Given the description of an element on the screen output the (x, y) to click on. 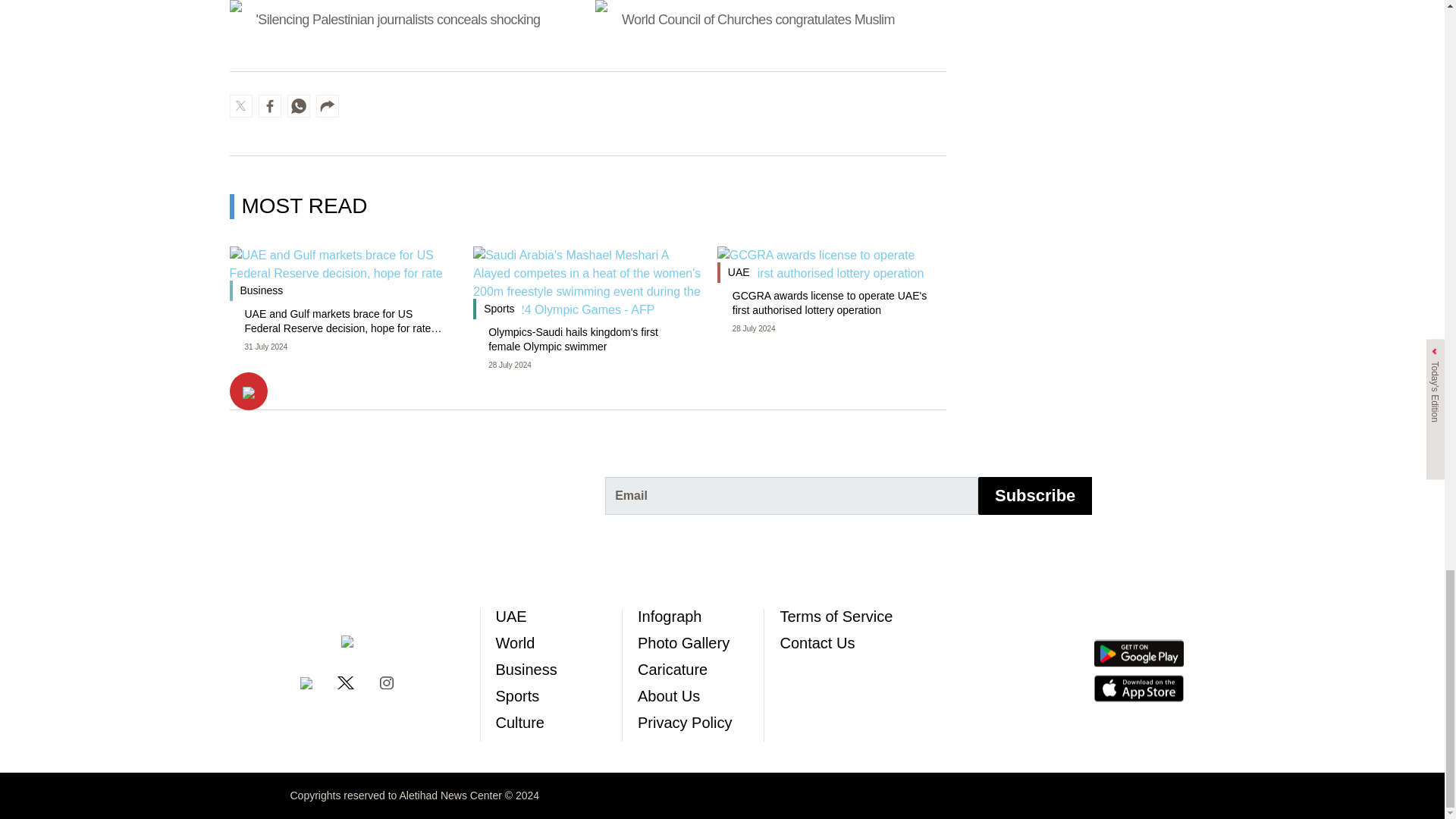
World (515, 642)
UAE (511, 616)
Business (526, 669)
Olympics-Saudi hails kingdom's first female Olympic swimmer (587, 339)
